Given the description of an element on the screen output the (x, y) to click on. 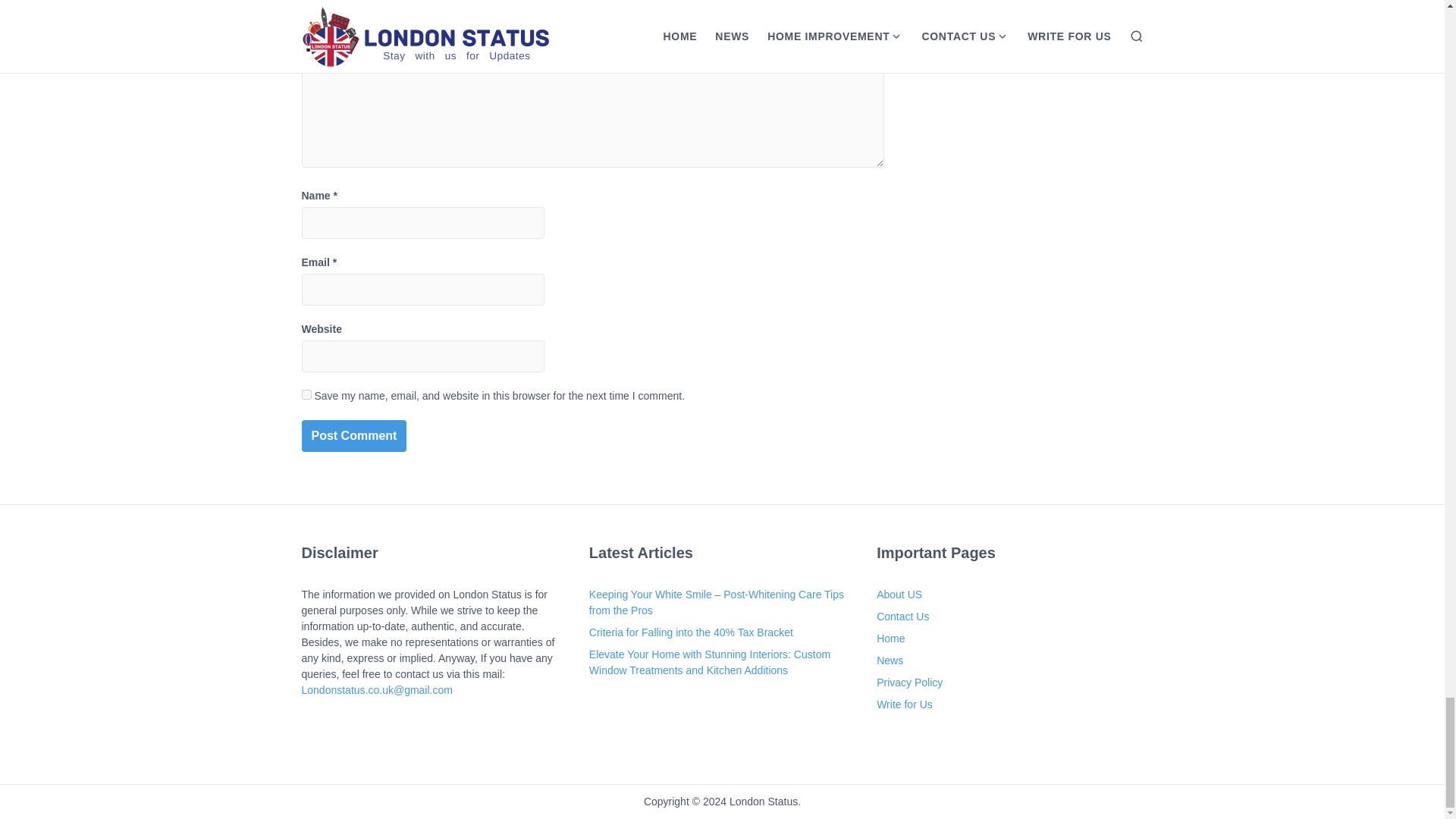
Post Comment (354, 436)
yes (306, 394)
Post Comment (354, 436)
